Given the description of an element on the screen output the (x, y) to click on. 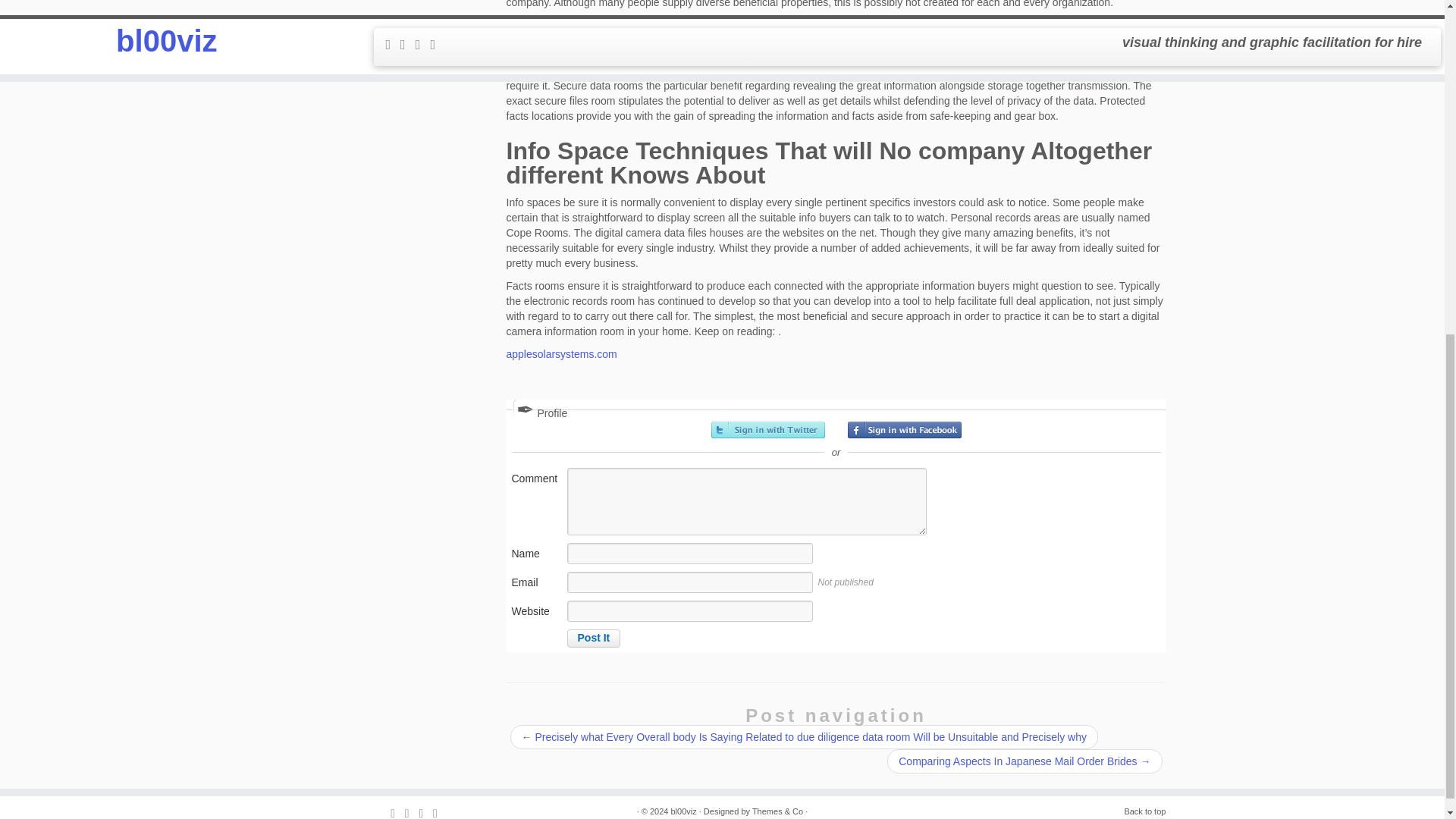
Sign in with Twitter (768, 429)
applesolarsystems.com (561, 354)
Post It (594, 638)
Back to top (1145, 810)
Sign in with Facebook (903, 429)
Post It (594, 638)
bl00viz (682, 810)
